Given the description of an element on the screen output the (x, y) to click on. 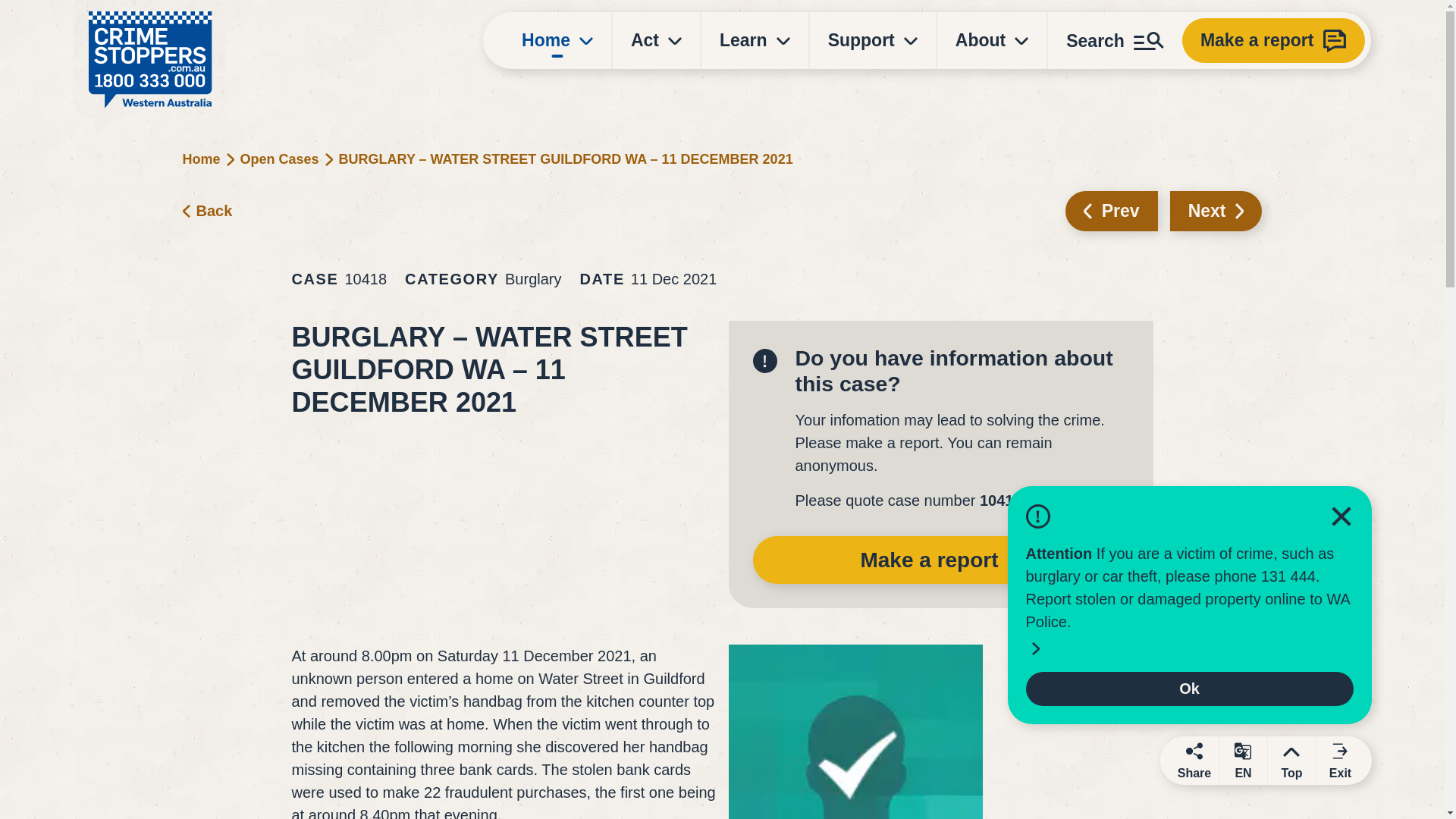
Learn (754, 40)
Make a report (1273, 40)
Act (656, 40)
Home (557, 40)
Support (872, 40)
About (991, 40)
